Given the description of an element on the screen output the (x, y) to click on. 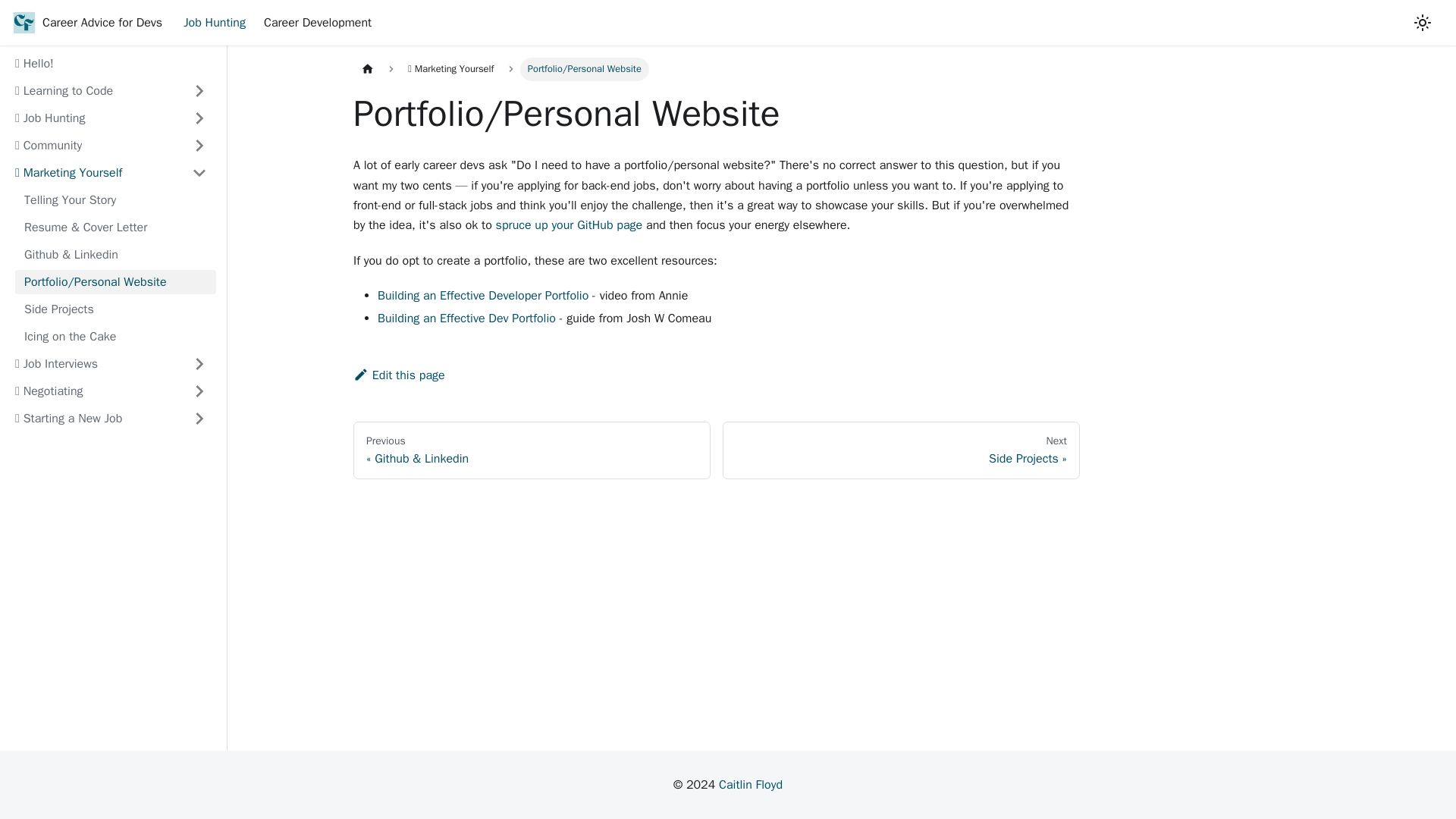
Telling Your Story (114, 200)
spruce up your GitHub page (569, 224)
Building an Effective Developer Portfolio (482, 295)
Career Advice for Devs (86, 22)
Job Hunting (901, 450)
Building an Effective Dev Portfolio (214, 22)
Caitlin Floyd (466, 318)
Side Projects (751, 784)
Icing on the Cake (114, 309)
Career Development (114, 336)
Edit this page (317, 22)
